Given the description of an element on the screen output the (x, y) to click on. 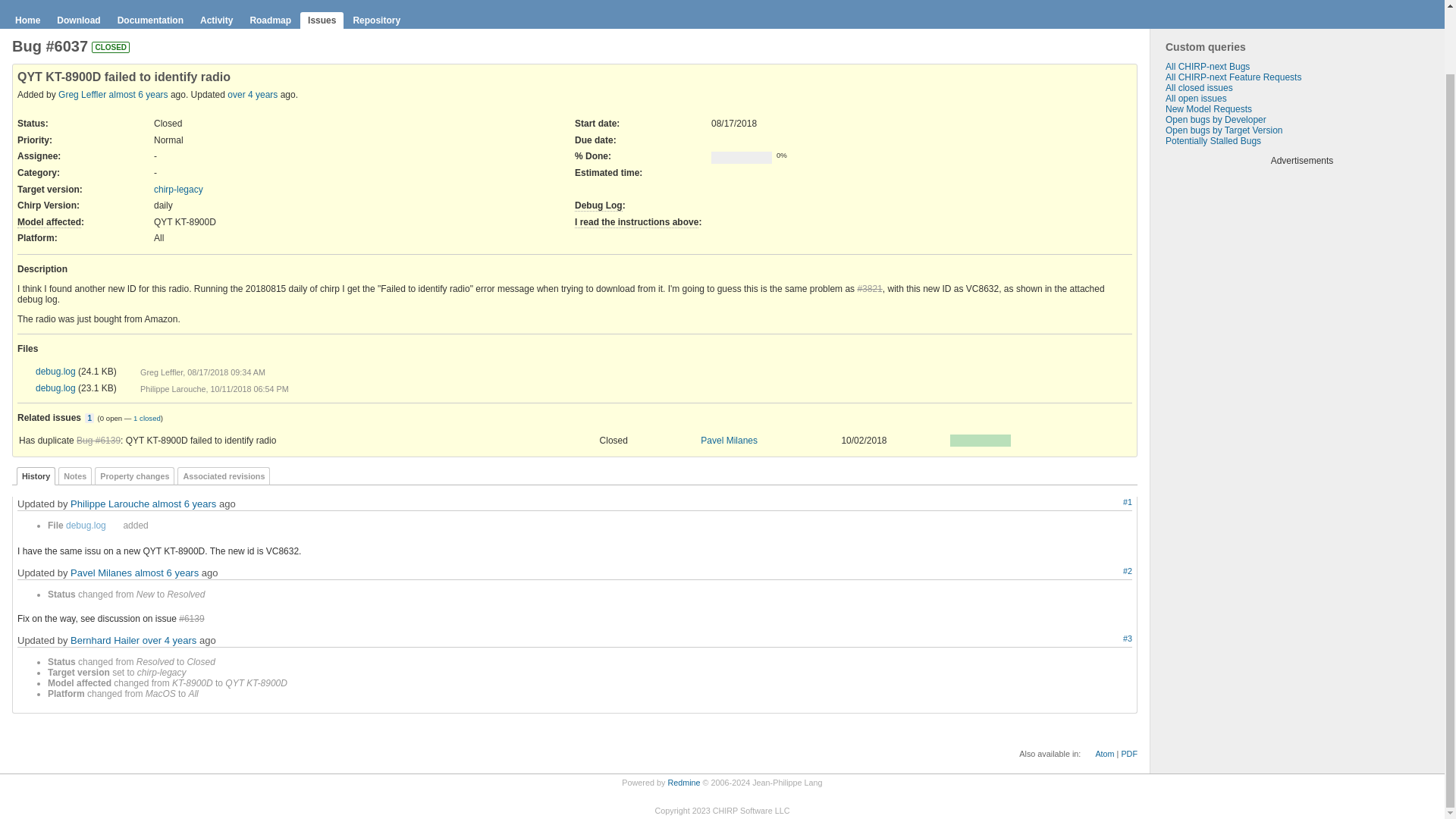
New Model Requests (1209, 109)
Roadmap (269, 20)
Download (78, 20)
Actions (1125, 440)
All CHIRP-next Feature Requests (1233, 77)
chirp-legacy (178, 189)
Download (113, 526)
Home (27, 20)
debug.log (125, 372)
